Given the description of an element on the screen output the (x, y) to click on. 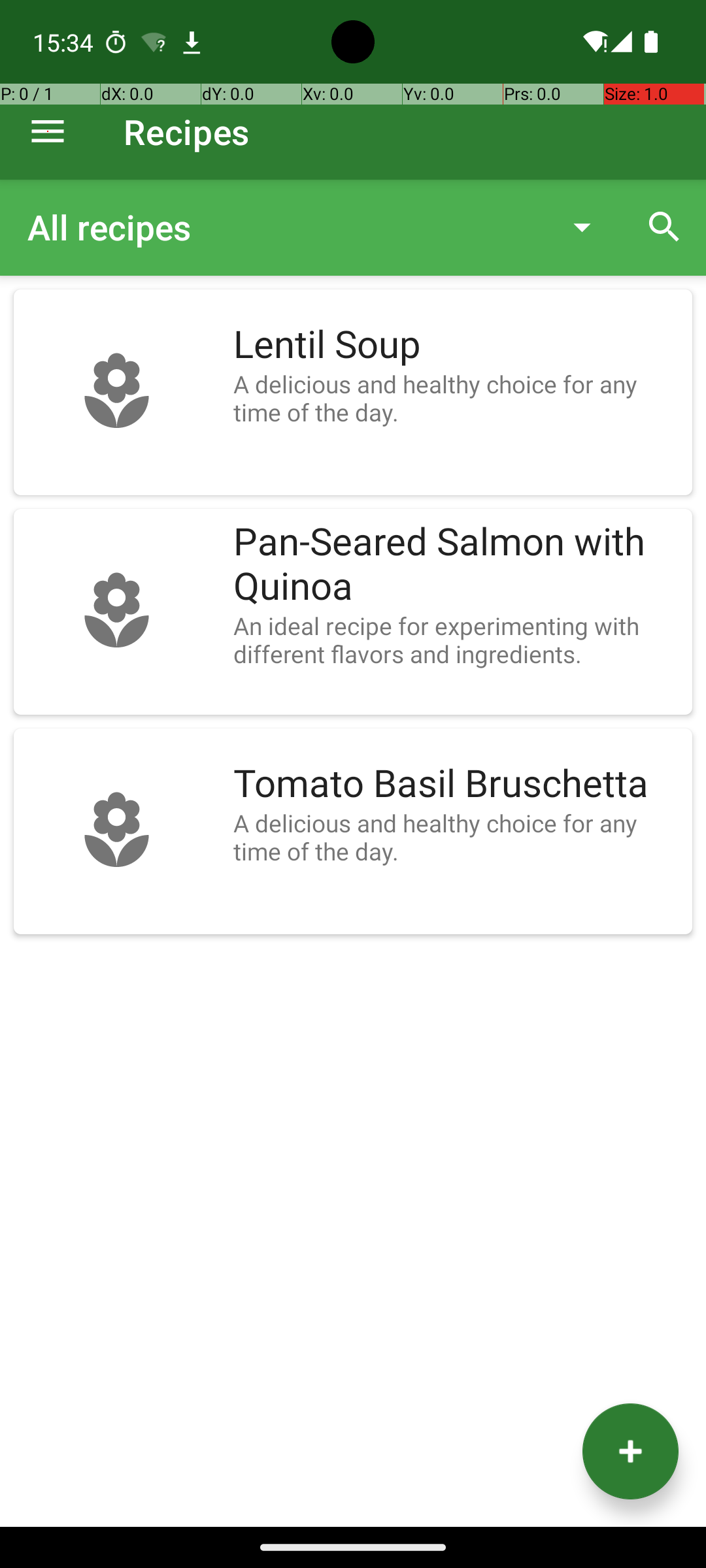
Tomato Basil Bruschetta Element type: android.widget.TextView (455, 783)
